Given the description of an element on the screen output the (x, y) to click on. 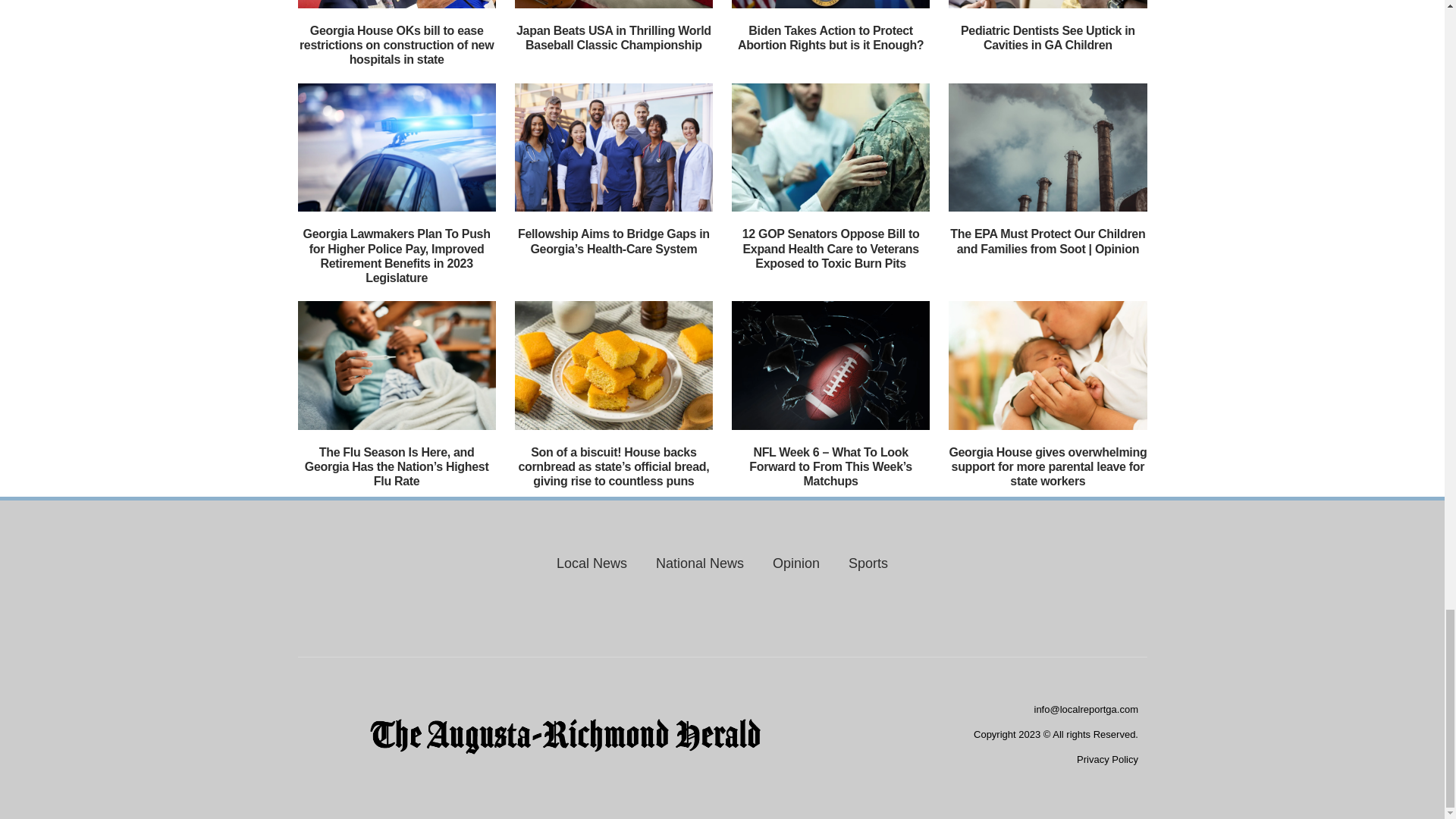
Pediatric Dentists See Uptick in Cavities in GA Children (1047, 37)
